Given the description of an element on the screen output the (x, y) to click on. 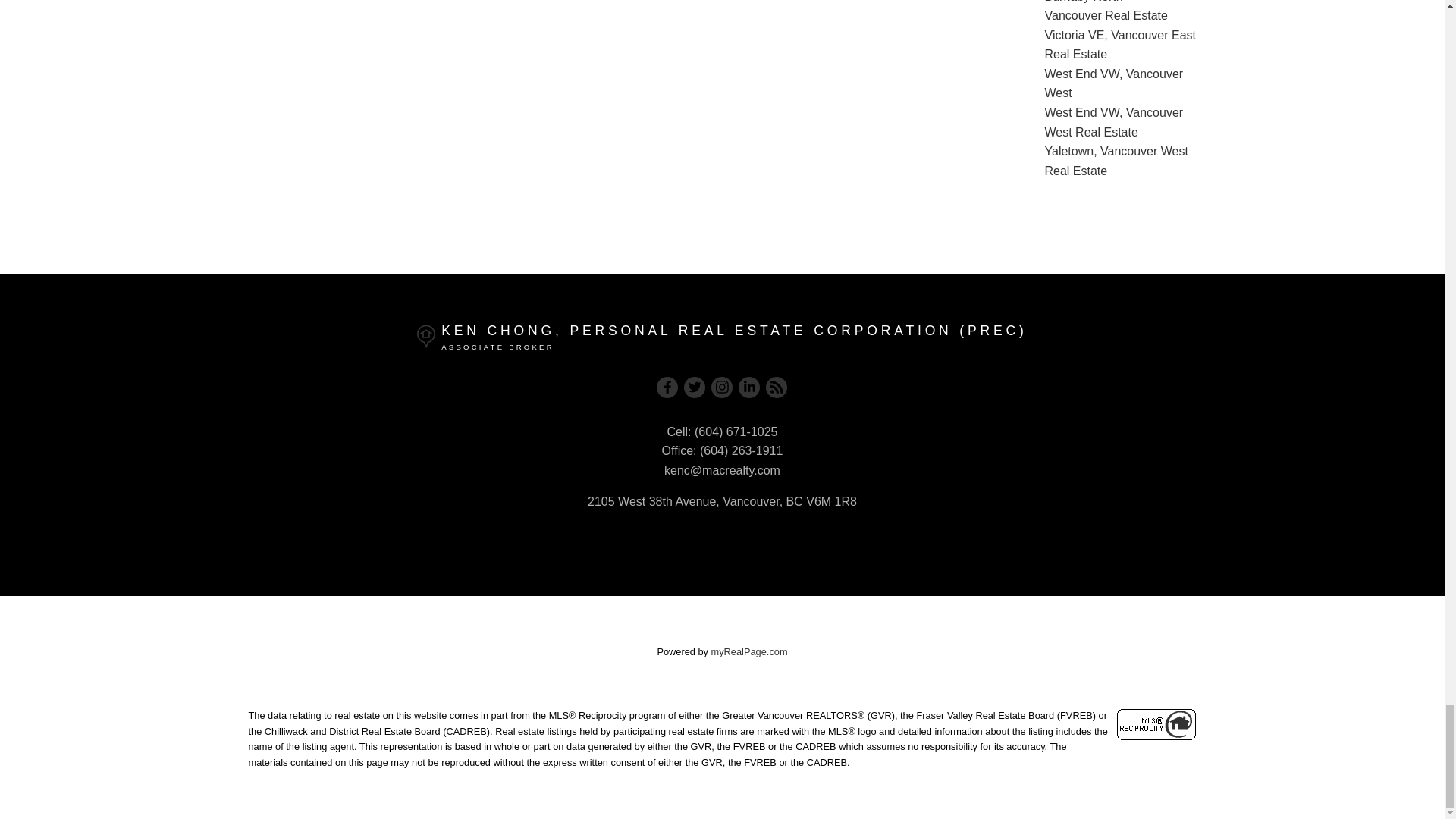
Facebook (667, 387)
Blog (776, 387)
Instagram (721, 387)
Twitter (694, 387)
Linkedin (749, 387)
